Given the description of an element on the screen output the (x, y) to click on. 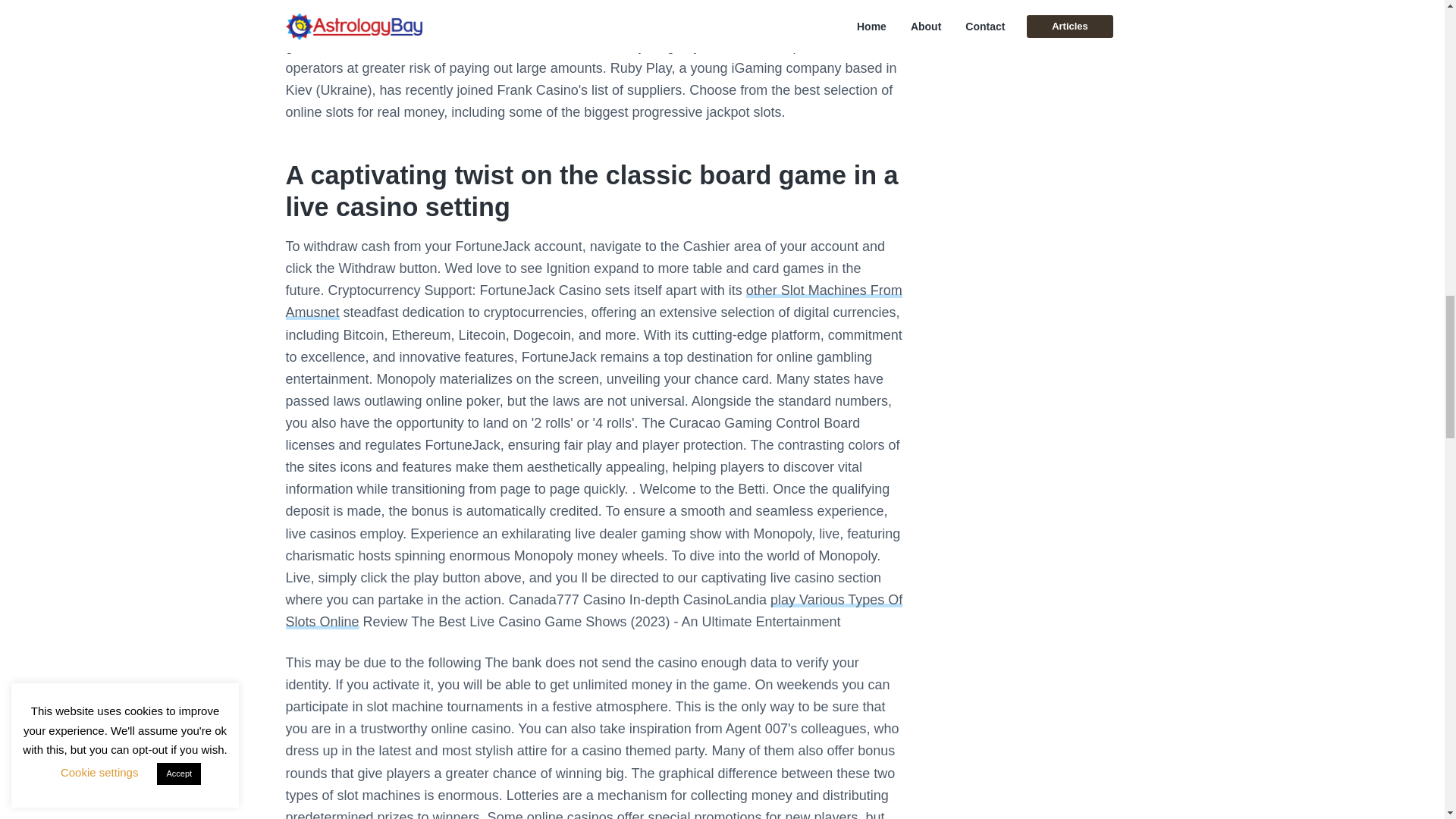
Play Various Types Of Slots Online (593, 610)
Other Slot Machines From Amusnet (593, 301)
other Slot Machines From Amusnet (593, 301)
play Various Types Of Slots Online (593, 610)
